Given the description of an element on the screen output the (x, y) to click on. 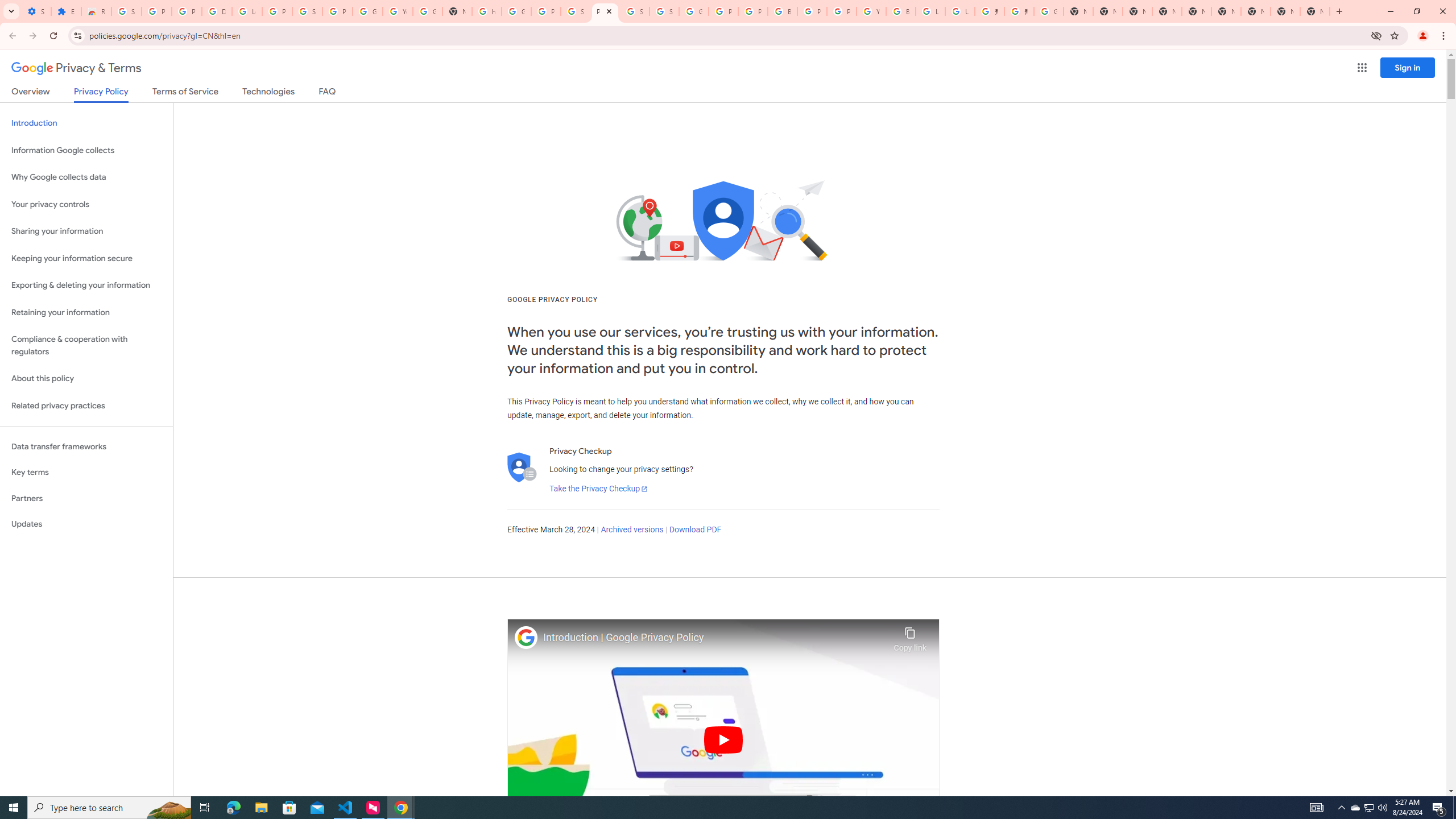
Sign in - Google Accounts (664, 11)
Learn how to find your photos - Google Photos Help (247, 11)
Reviews: Helix Fruit Jump Arcade Game (95, 11)
